Given the description of an element on the screen output the (x, y) to click on. 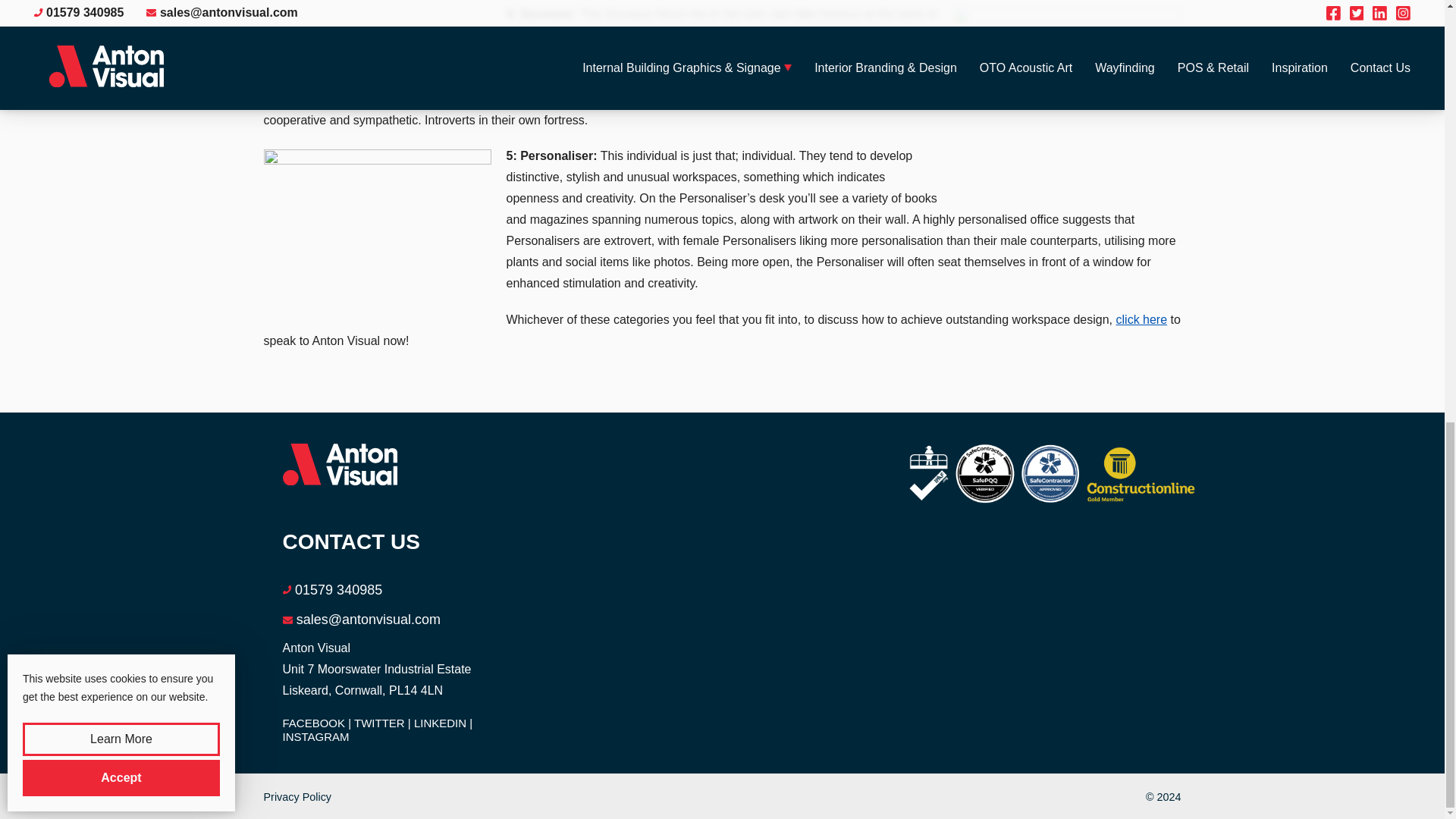
FACEBOOK (316, 722)
click here (1141, 318)
LINKEDIN (442, 722)
TWITTER (381, 722)
01579 340985 (338, 590)
